Given the description of an element on the screen output the (x, y) to click on. 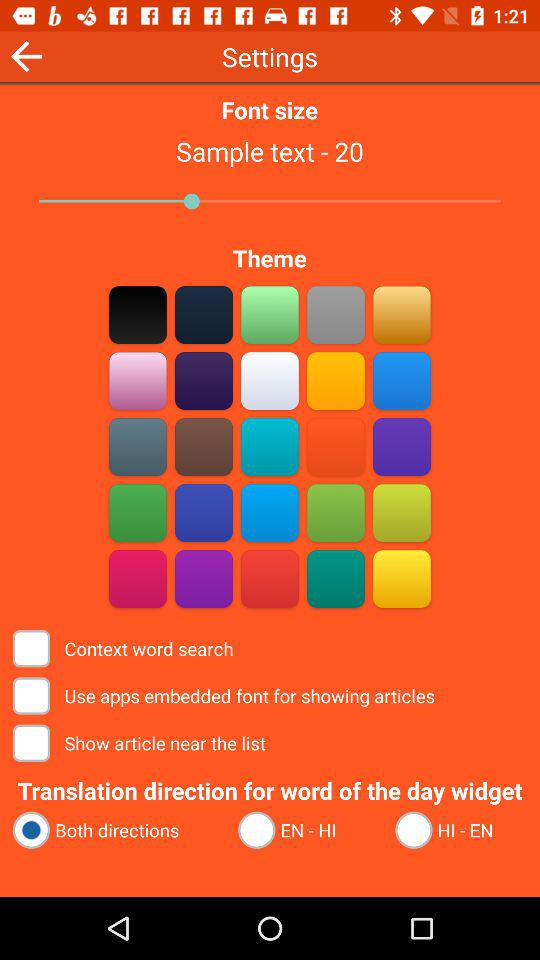
choose the color for your theme (137, 578)
